Given the description of an element on the screen output the (x, y) to click on. 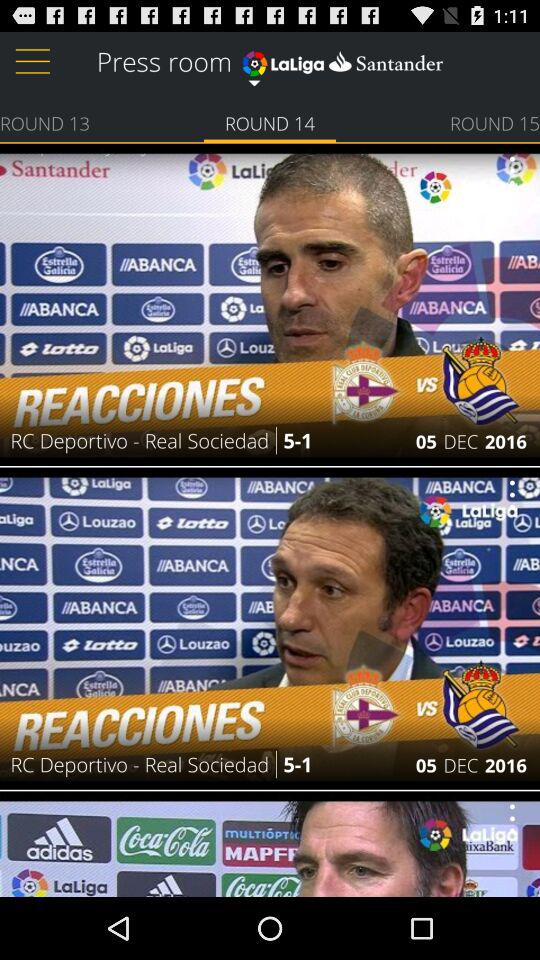
tap the app next to the round 14 icon (45, 122)
